Given the description of an element on the screen output the (x, y) to click on. 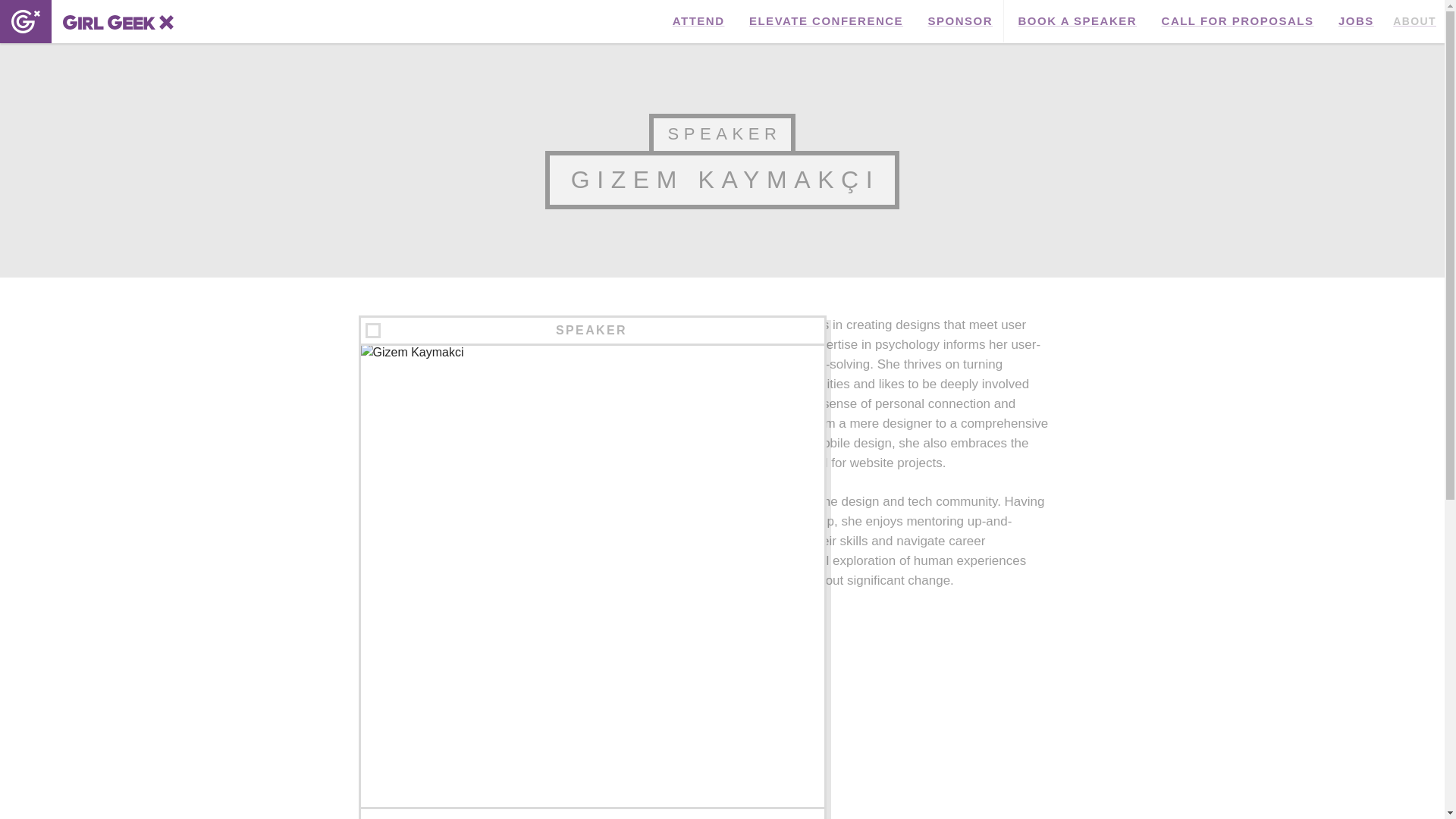
ELEVATE CONFERENCE (826, 21)
BOOK A SPEAKER (1077, 21)
ATTEND (698, 21)
JOBS (1355, 21)
SPONSOR (960, 21)
CALL FOR PROPOSALS (1237, 21)
